Given the description of an element on the screen output the (x, y) to click on. 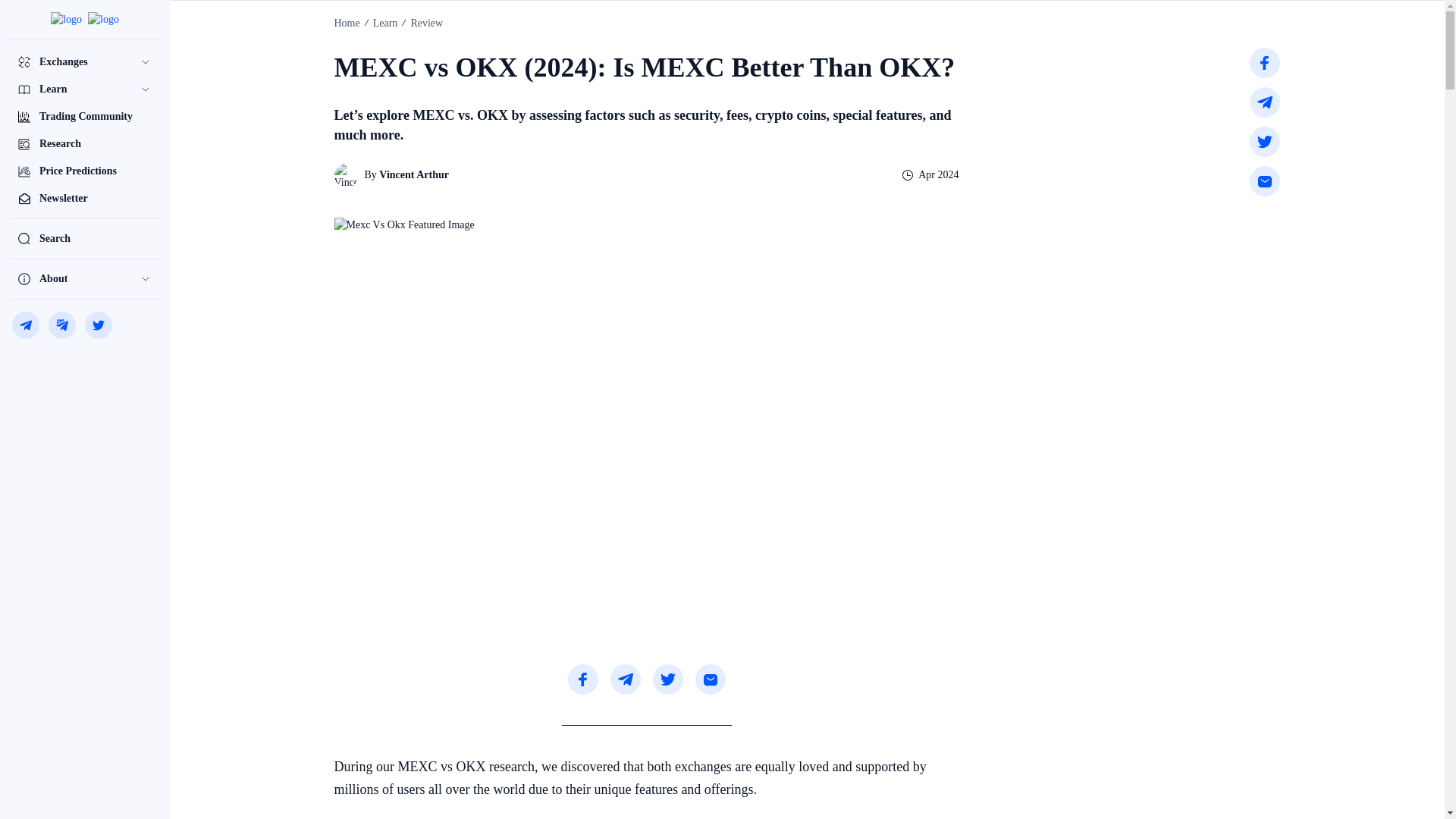
Exchanges (84, 62)
Price Predictions (84, 171)
Search (84, 238)
About (84, 278)
Research (84, 144)
Newsletter (84, 198)
Learn (84, 89)
Trading Community (84, 116)
